Given the description of an element on the screen output the (x, y) to click on. 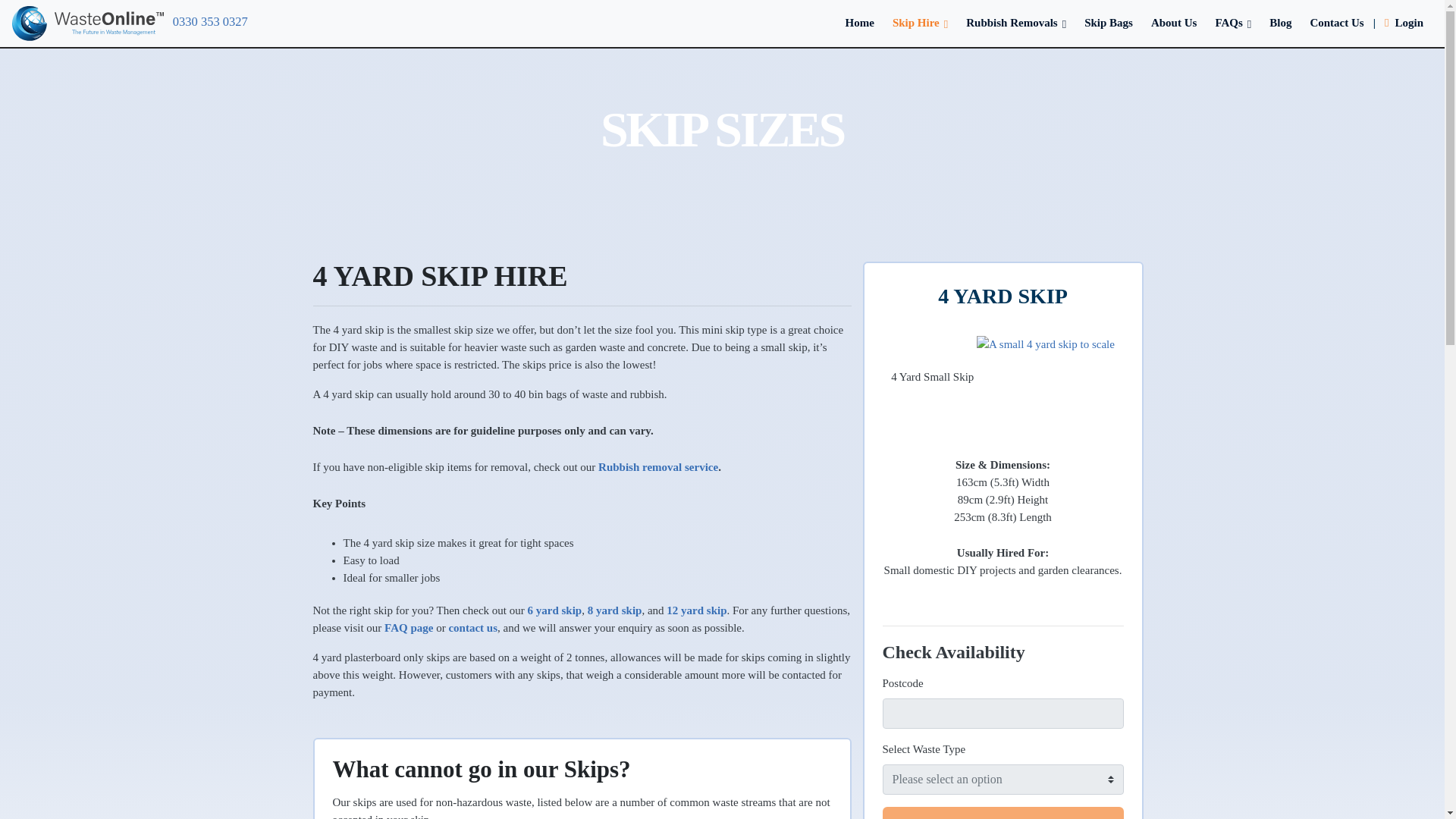
Skip Hire (919, 22)
Home (859, 22)
Skip Bags (1108, 22)
6 yard skip (554, 610)
About Us (1173, 22)
Rubbish removal service (657, 467)
Blog (1280, 22)
Rubbish Removals (1015, 22)
Login (1403, 22)
12 yard skip (696, 610)
Contact Us (1336, 22)
Skip Hire and Rubbish Removal Waste Online Logo (87, 22)
FAQ page (408, 627)
Get Skip Price (1003, 812)
contact us (472, 627)
